Given the description of an element on the screen output the (x, y) to click on. 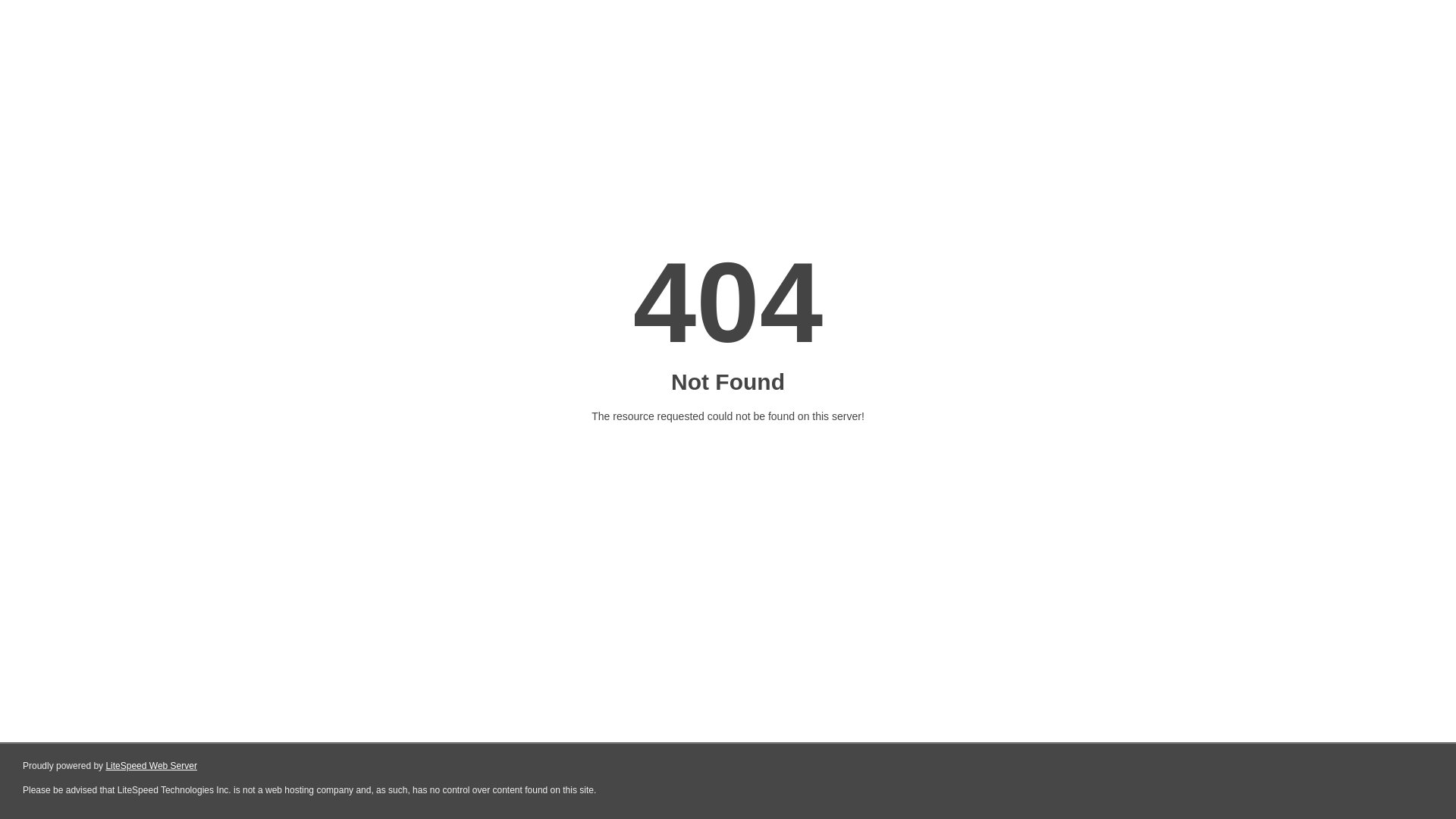
LiteSpeed Web Server Element type: text (151, 765)
